Given the description of an element on the screen output the (x, y) to click on. 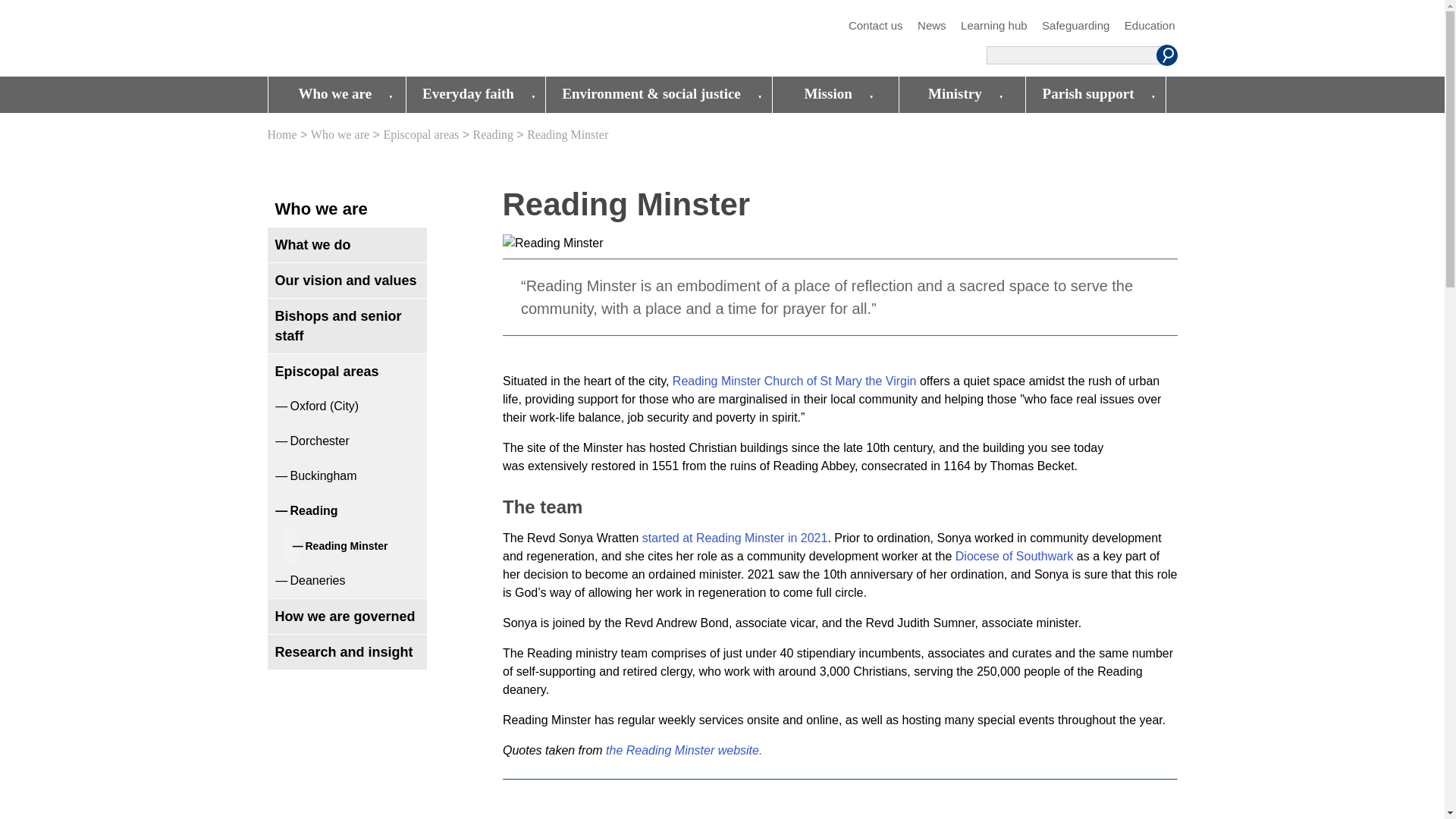
Diocese of Oxford Logo (376, 39)
Education (1149, 25)
News (931, 25)
Contact us (875, 25)
Learning hub (993, 25)
Safeguarding (1075, 25)
